Given the description of an element on the screen output the (x, y) to click on. 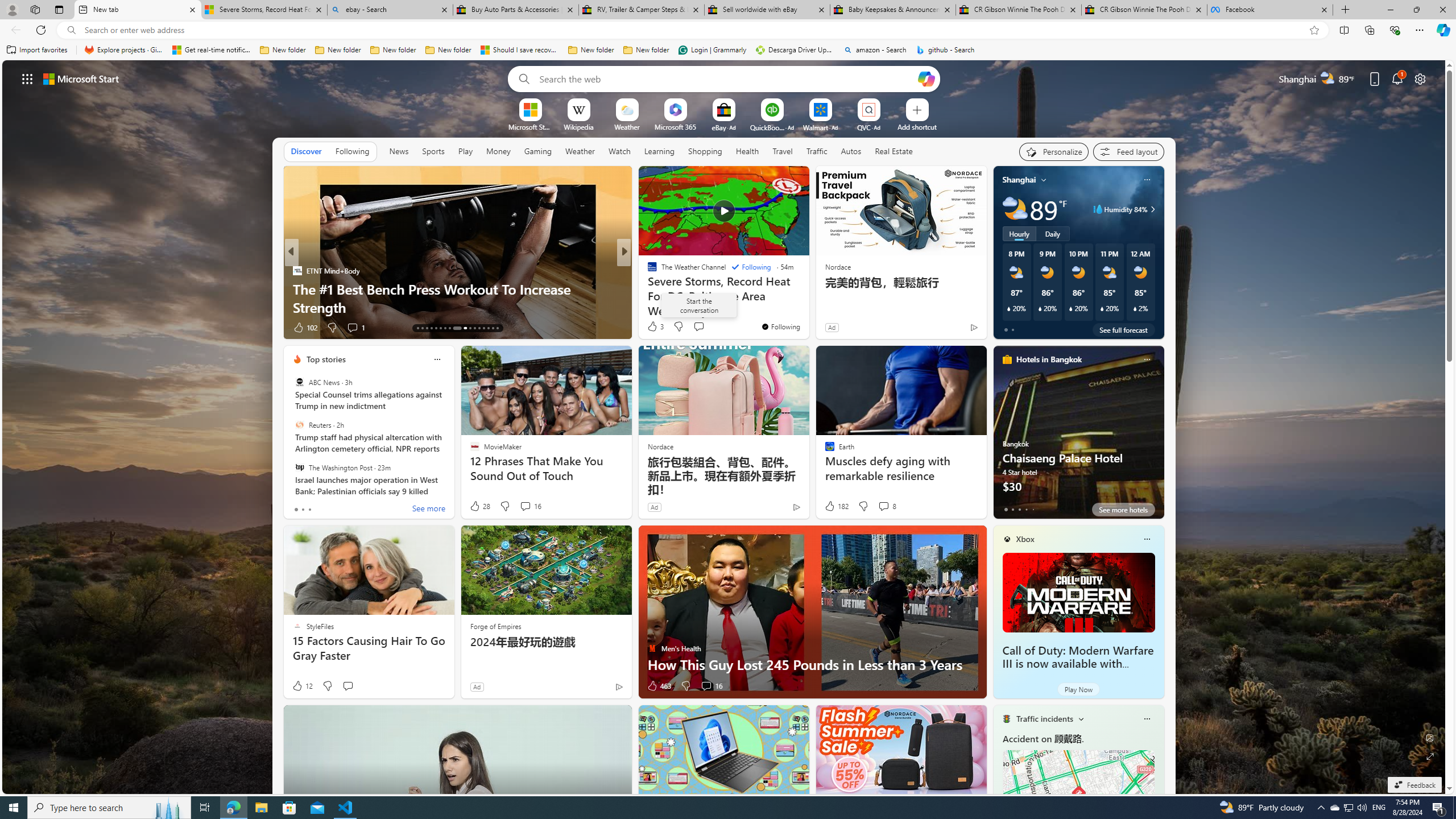
32 Like (652, 327)
View comments 1 Comment (703, 327)
Traffic incidents (1044, 718)
Expand background (1430, 756)
182 Like (835, 505)
View comments 167 Comment (703, 327)
Partly cloudy (1014, 208)
